Given the description of an element on the screen output the (x, y) to click on. 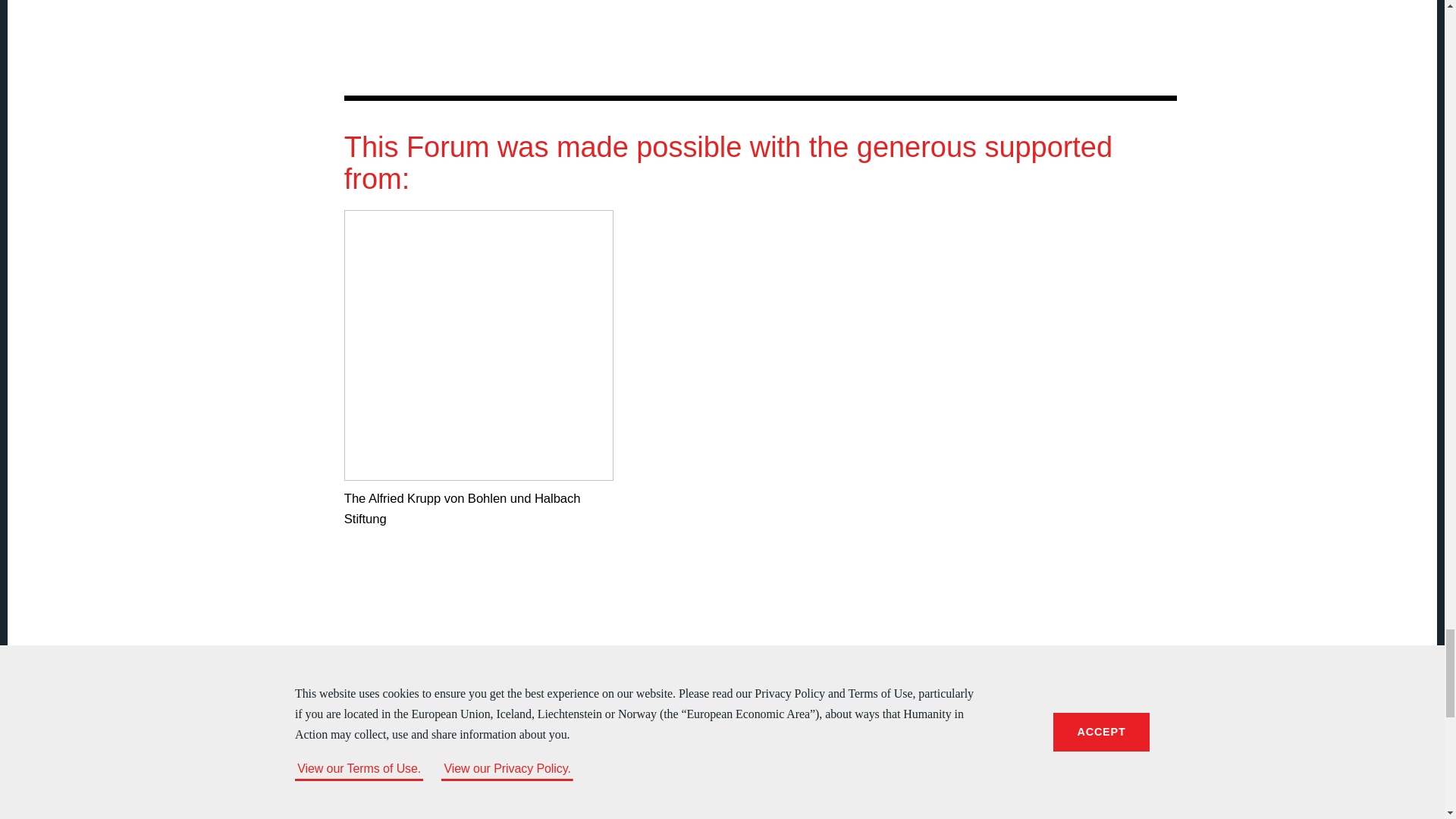
Related (722, 28)
